Given the description of an element on the screen output the (x, y) to click on. 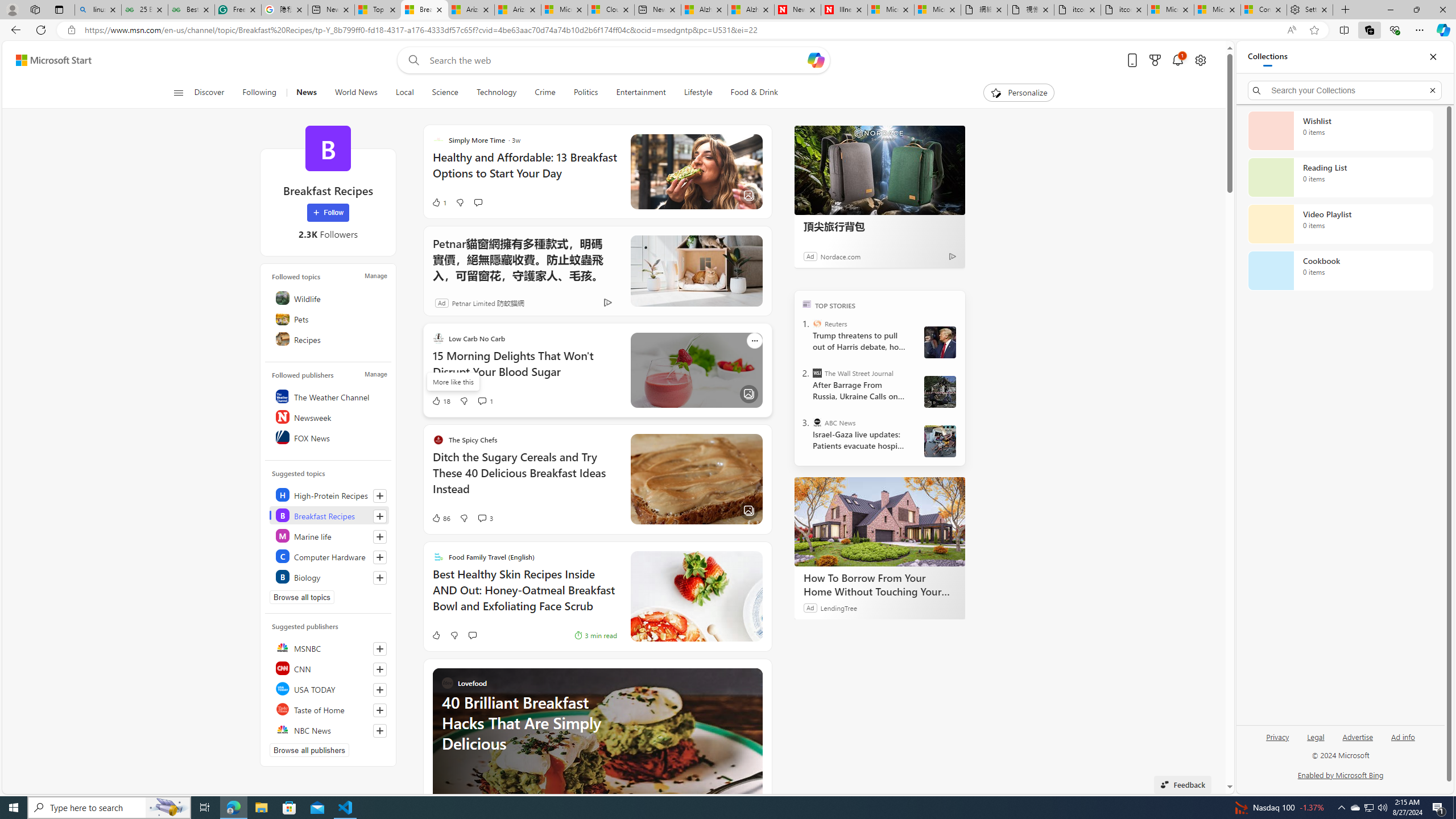
World News (355, 92)
Illness news & latest pictures from Newsweek.com (844, 9)
Browse all topics (301, 597)
Nordace.com (839, 256)
Food & Drink (753, 92)
Follow this topic (379, 577)
View comments 1 Comment (485, 400)
CNN (328, 668)
Search your Collections (1345, 90)
Pets (328, 318)
Start the conversation (472, 634)
